Given the description of an element on the screen output the (x, y) to click on. 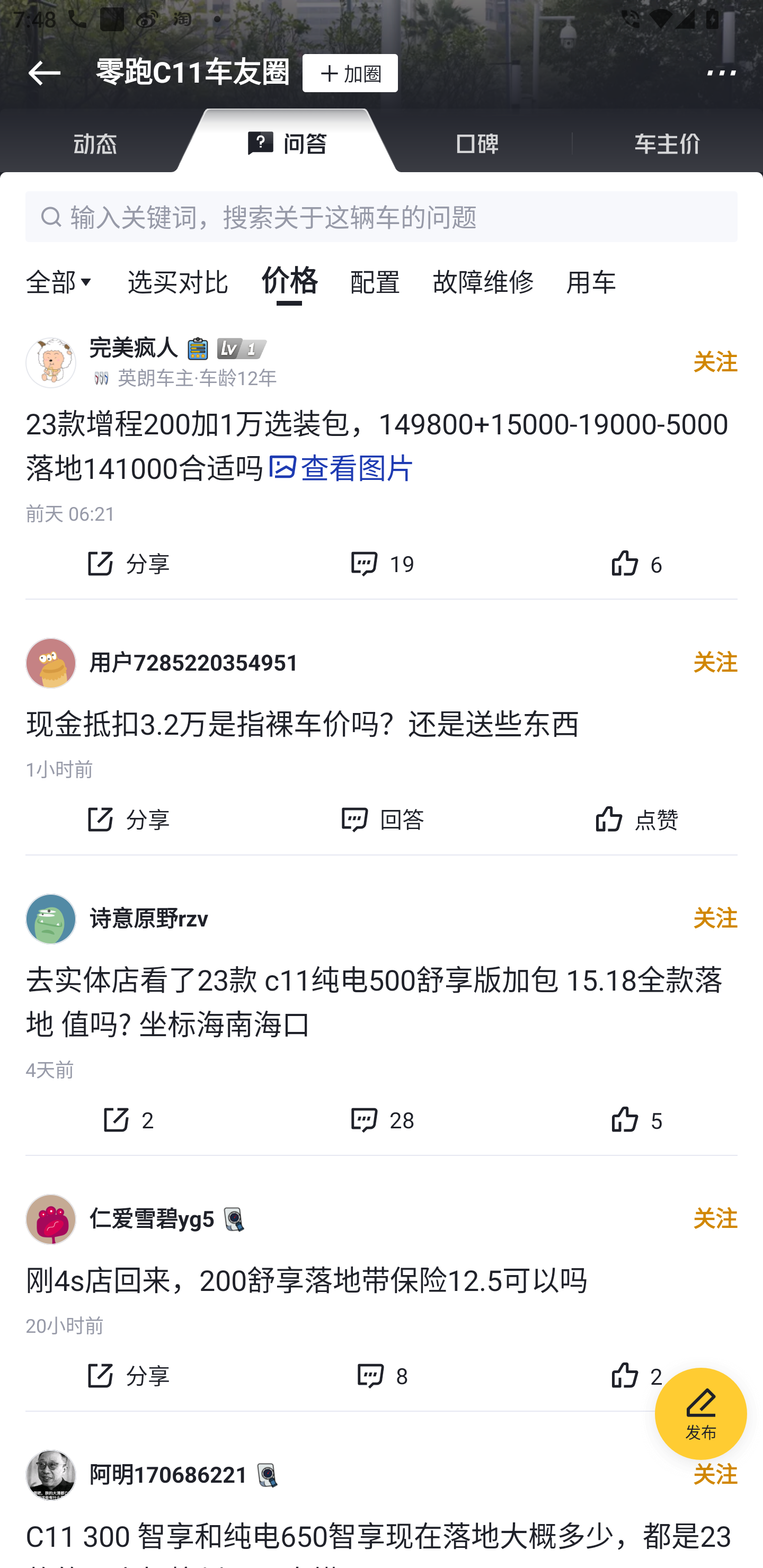
 (44, 72)
 加圈 (350, 72)
 (721, 72)
 输入关键词，搜索关于这辆车的问题 (381, 216)
全部  (60, 279)
选买对比 (177, 279)
价格 (289, 279)
配置 (374, 279)
故障维修 (483, 279)
用车 (591, 279)
完美疯人 (133, 347)
关注 (714, 362)
 分享 (127, 563)
 19 (381, 563)
6 (635, 563)
关注 (714, 663)
用户7285220354951 (194, 662)
现金抵扣3.2万是指裸车价吗？还是送些东西 (381, 721)
 分享 (127, 819)
 回答 (381, 819)
点赞 (635, 819)
关注 (714, 918)
诗意原野rzv (148, 918)
去实体店看了23款 c11纯电500舒享版加包 15.18全款落地 值吗? 坐标海南海口 (381, 1000)
 2 (127, 1119)
 28 (381, 1119)
5 (635, 1119)
关注 (714, 1219)
仁爱雪碧yg5 (151, 1219)
刚4s店回来，200舒享落地带保险12.5可以吗 (381, 1278)
 分享 (127, 1375)
 8 (381, 1375)
2 (635, 1375)
 发布 (701, 1416)
关注 (714, 1475)
阿明170686221 (168, 1475)
C11 300 智享和纯电650智享现在落地大概多少，都是23款的，坐标杭州，不太懂 (381, 1540)
